Given the description of an element on the screen output the (x, y) to click on. 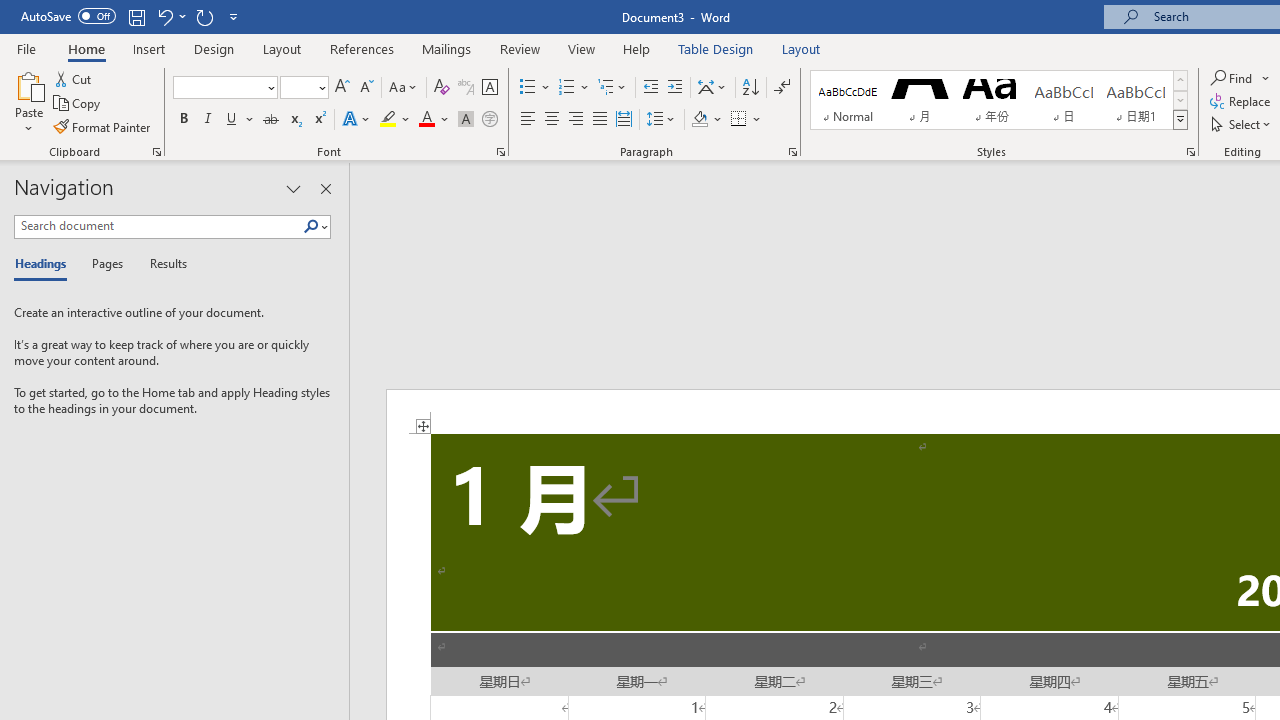
Multilevel List (613, 87)
Underline (239, 119)
Underline (232, 119)
Row Down (1179, 100)
Center (552, 119)
Font (224, 87)
Styles... (1190, 151)
Pages (105, 264)
Format Painter (103, 126)
Sort... (750, 87)
Strikethrough (270, 119)
Font Color (434, 119)
Quick Access Toolbar (131, 16)
Review (520, 48)
